Given the description of an element on the screen output the (x, y) to click on. 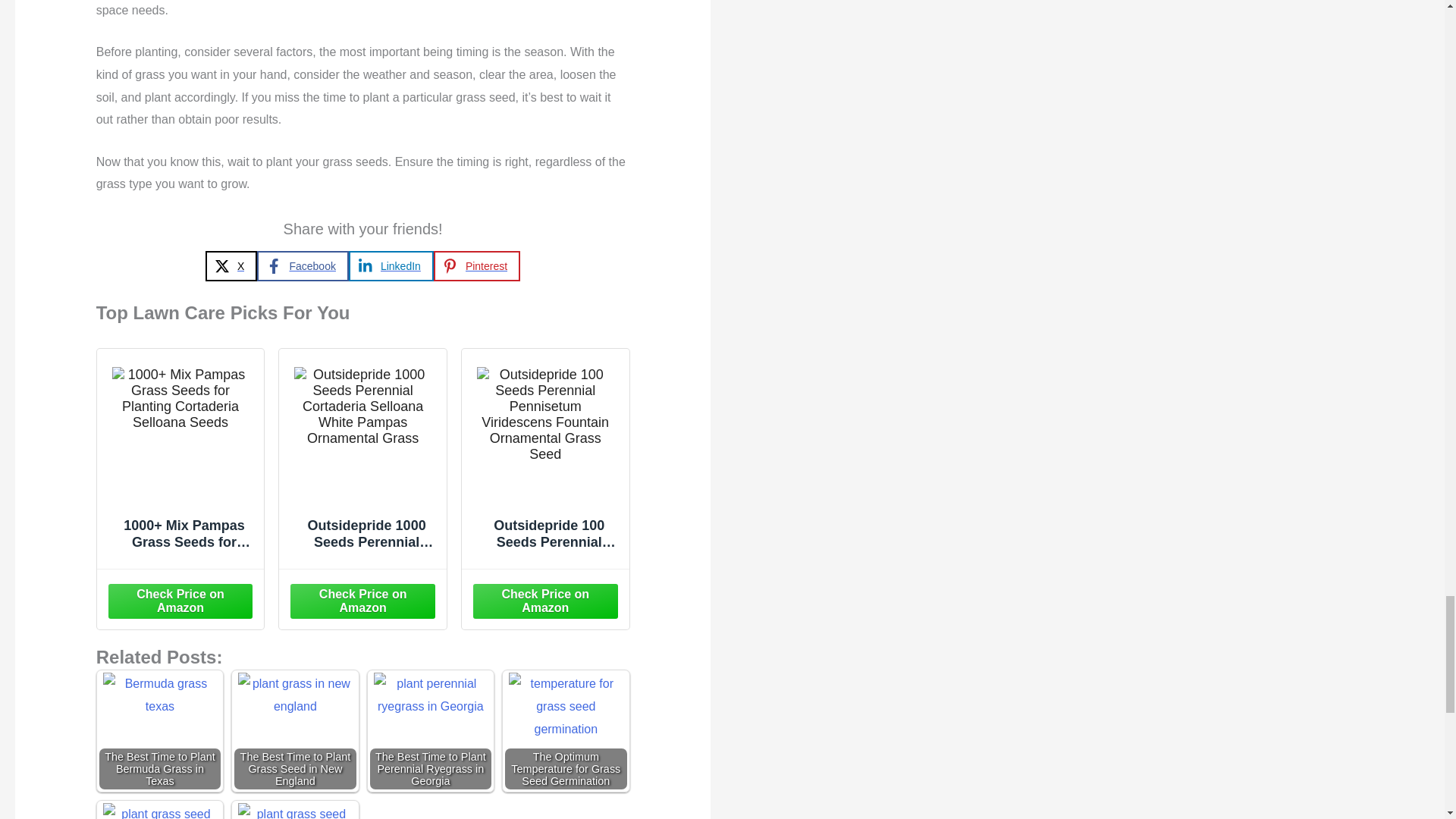
X (231, 265)
Facebook (302, 265)
LinkedIn (391, 265)
